Given the description of an element on the screen output the (x, y) to click on. 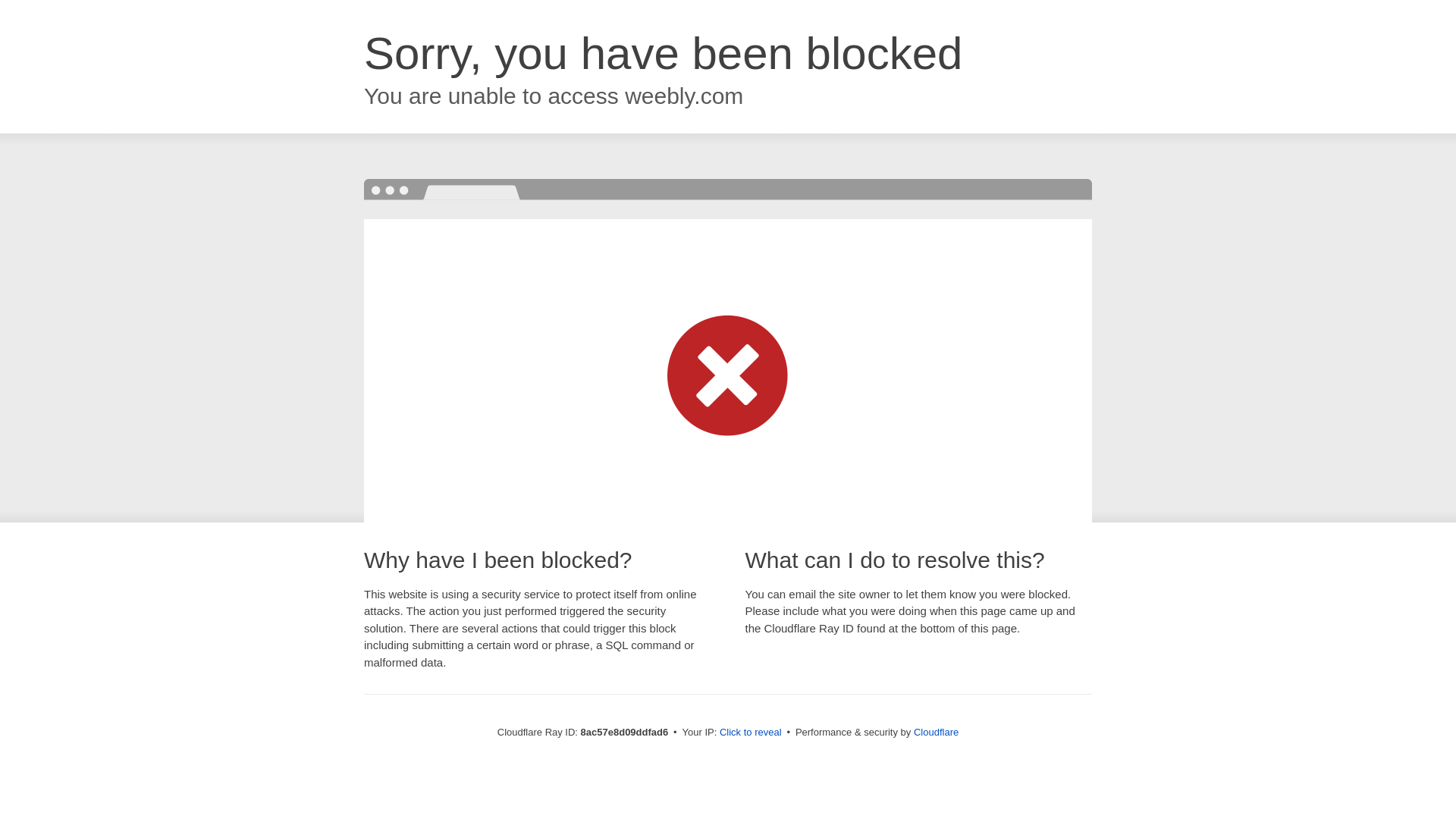
Cloudflare (936, 731)
Click to reveal (750, 732)
